Given the description of an element on the screen output the (x, y) to click on. 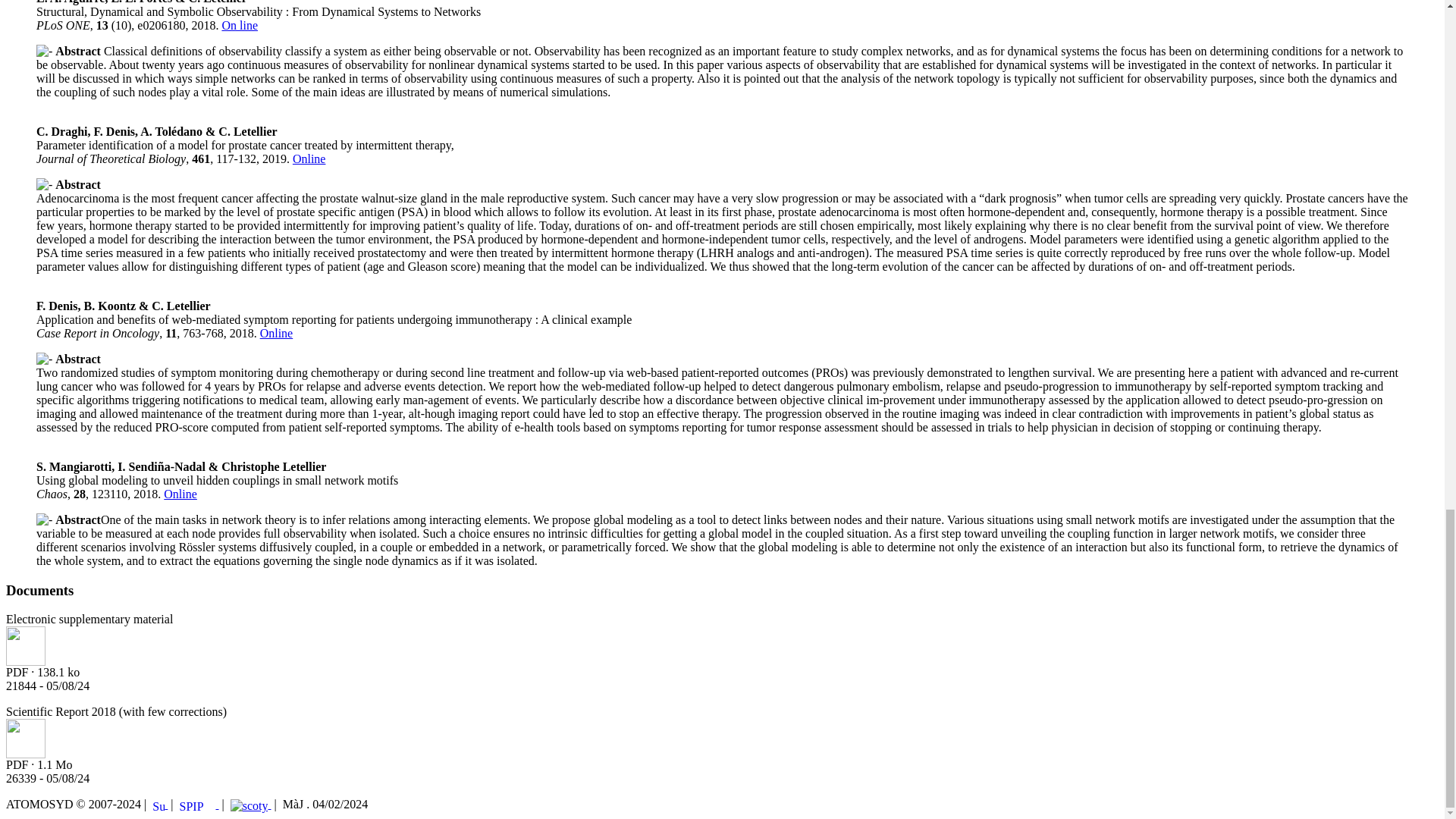
Syndiquer tout le site (159, 803)
